Given the description of an element on the screen output the (x, y) to click on. 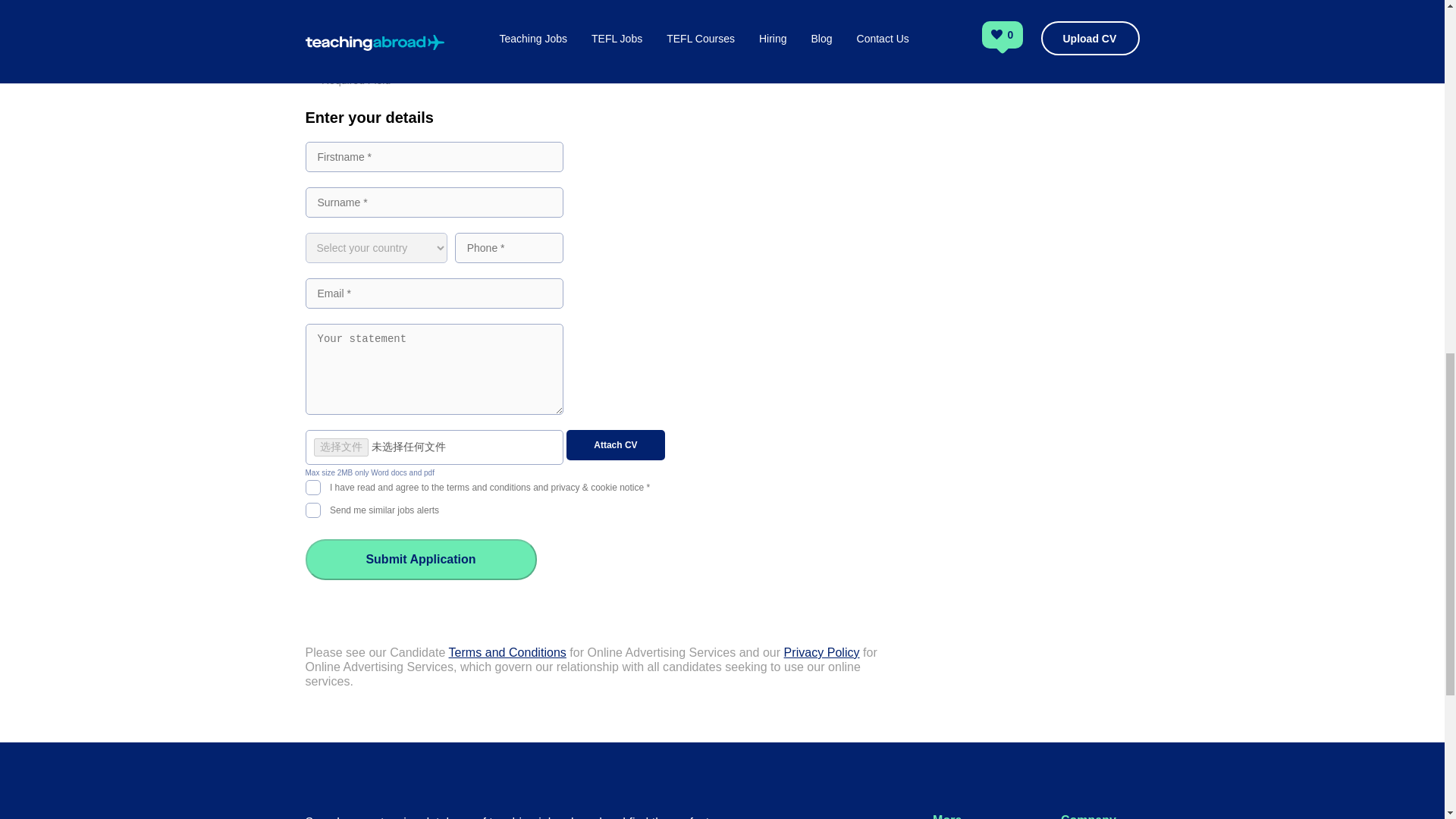
on (312, 485)
Privacy Policy (822, 652)
Terms and Conditions (507, 652)
Submit Application (419, 558)
on (312, 508)
Please see our Candidate (376, 652)
